Given the description of an element on the screen output the (x, y) to click on. 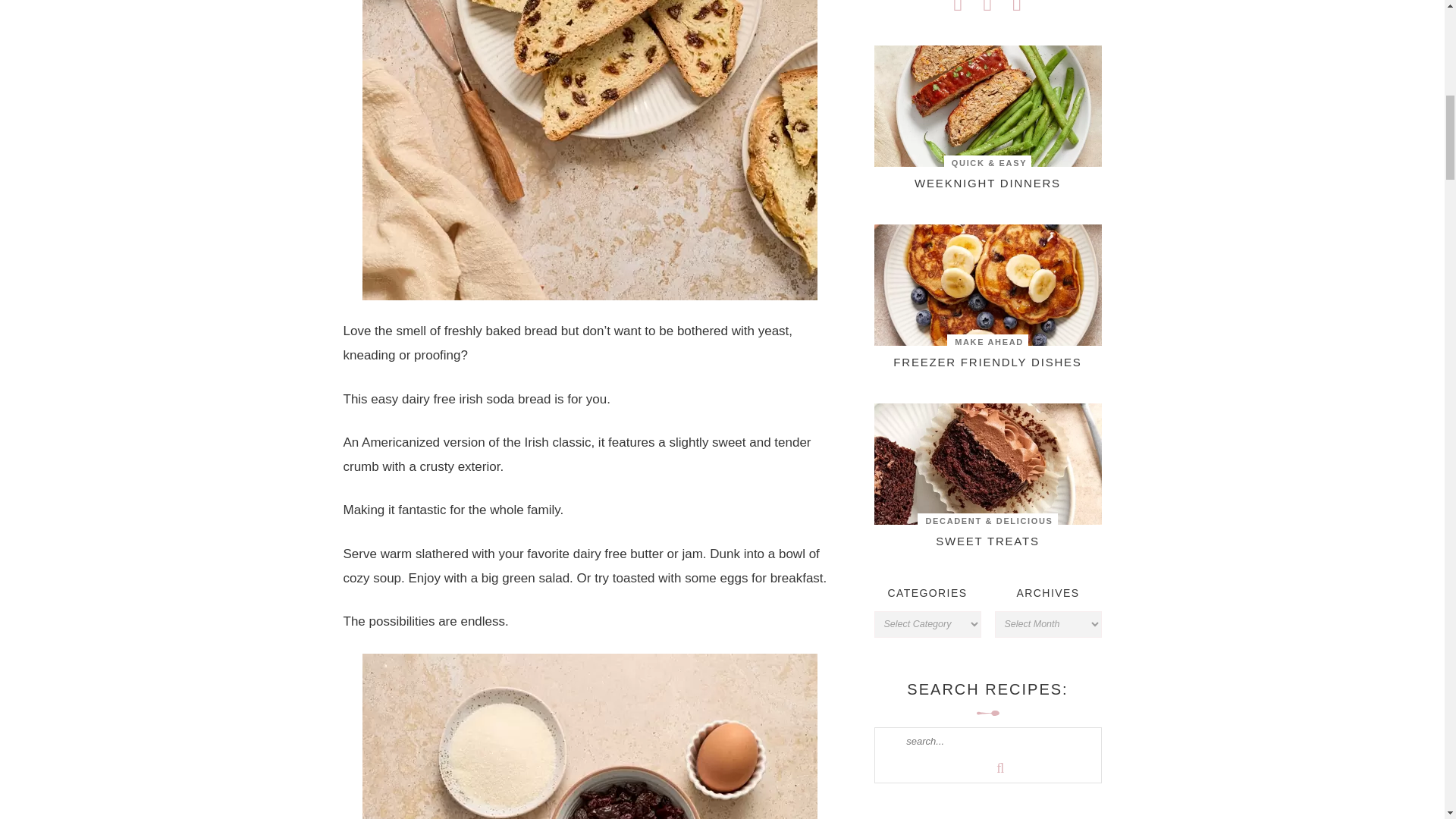
Pinterest (987, 7)
Instagram (1017, 7)
Facebook (957, 7)
